Given the description of an element on the screen output the (x, y) to click on. 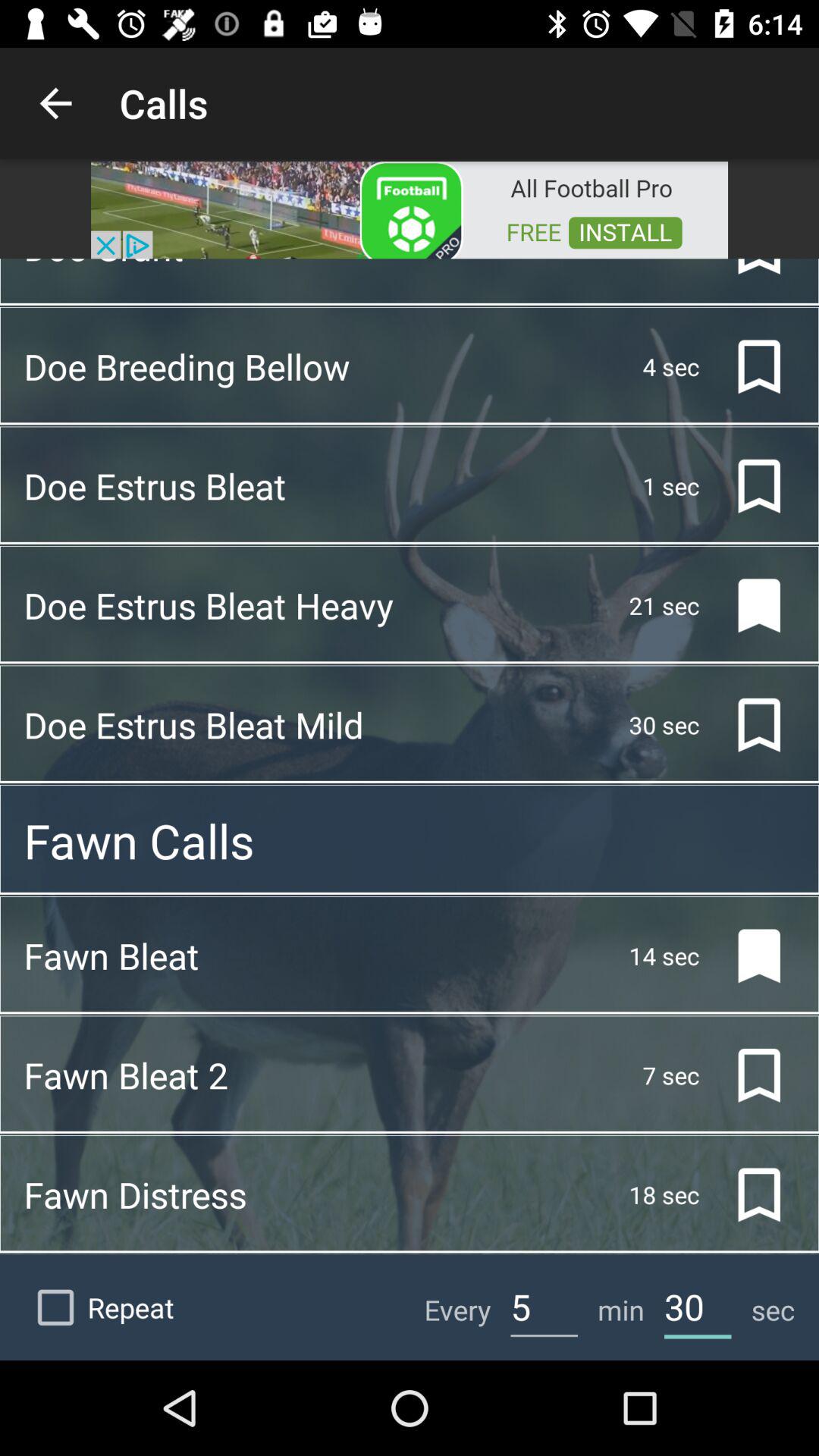
advertisement (409, 208)
